Given the description of an element on the screen output the (x, y) to click on. 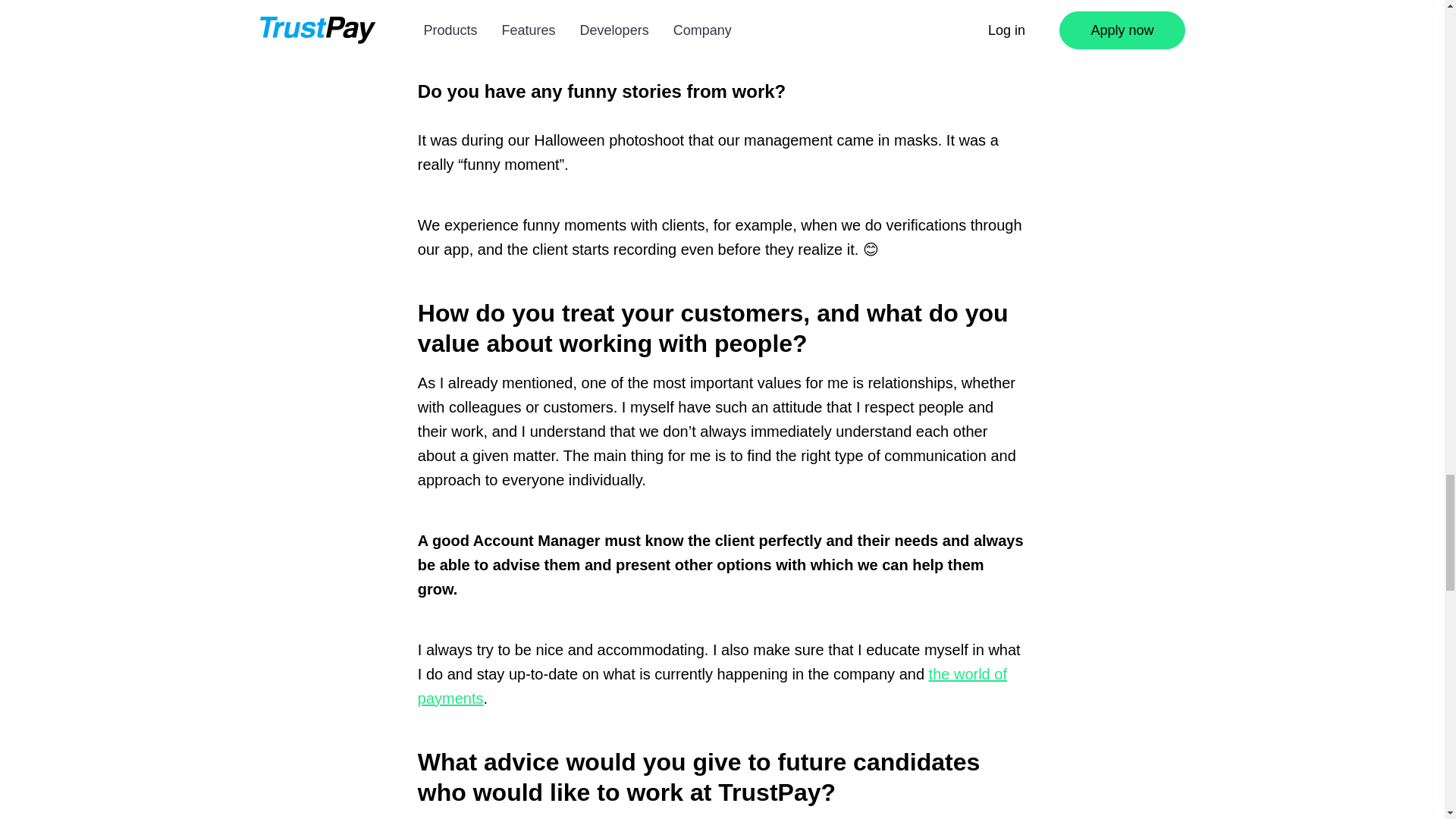
the world of payments (712, 685)
